Given the description of an element on the screen output the (x, y) to click on. 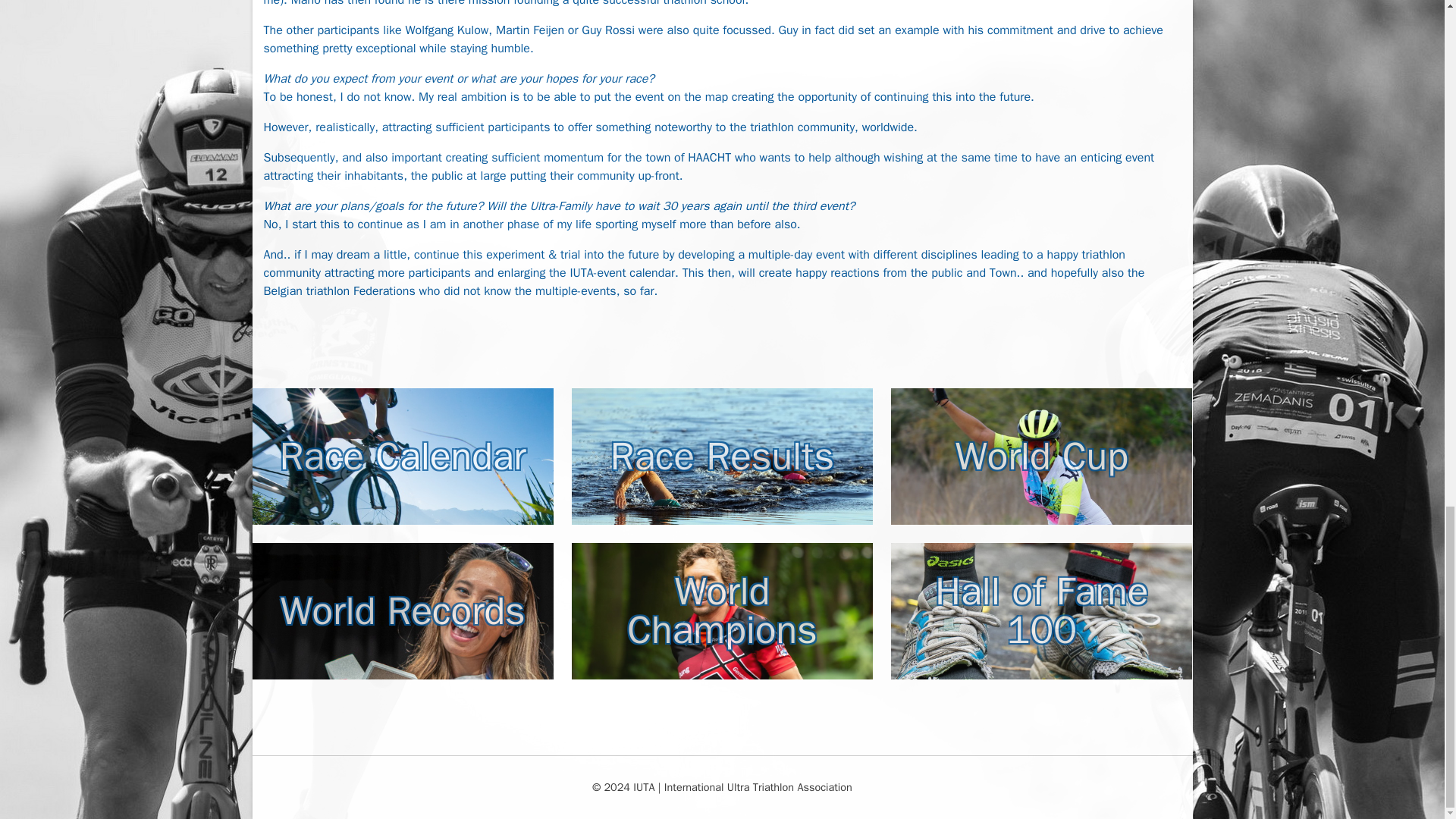
IUTA Ultra Triathlon Race Calendar (402, 456)
IUTA Ultra Triathlon World Champions (722, 610)
Ultra Triathlon World Records (402, 610)
IUTA Hall of Fame 100 (1041, 610)
IUTA Ultra Triathlon Race Results (722, 456)
IUTA Ultra Triathlon World Cup (1041, 456)
